Given the description of an element on the screen output the (x, y) to click on. 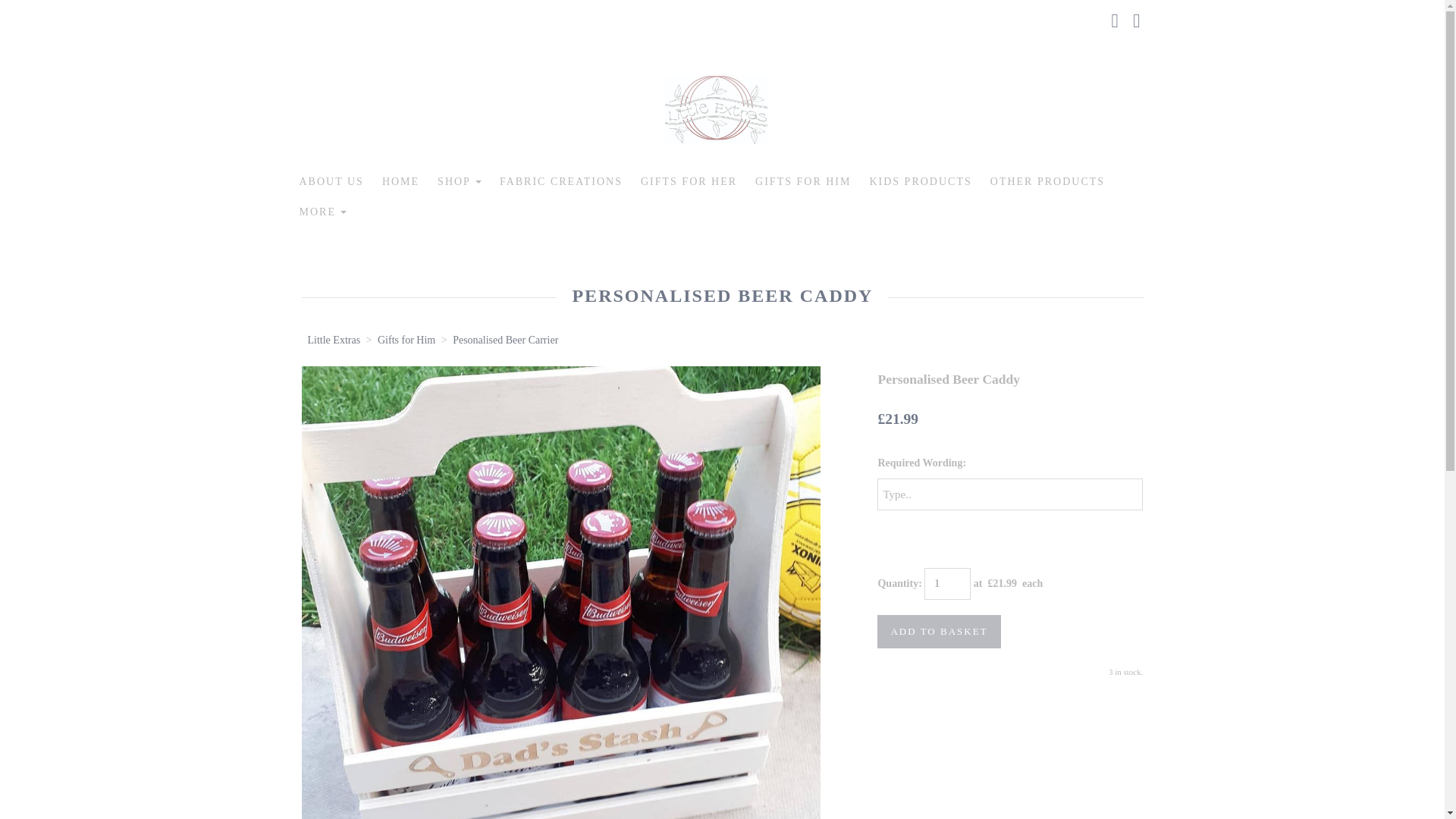
Little Extras (334, 339)
KIDS PRODUCTS (919, 182)
1 (947, 583)
SHOP (459, 182)
MORE (322, 212)
OTHER PRODUCTS (1047, 182)
Gifts for Him (406, 339)
GIFTS FOR HIM (802, 182)
FABRIC CREATIONS (560, 182)
ABOUT US (330, 182)
Pesonalised Beer Carrier (504, 339)
ADD TO BASKET (938, 631)
GIFTS FOR HER (688, 182)
HOME (400, 182)
